Given the description of an element on the screen output the (x, y) to click on. 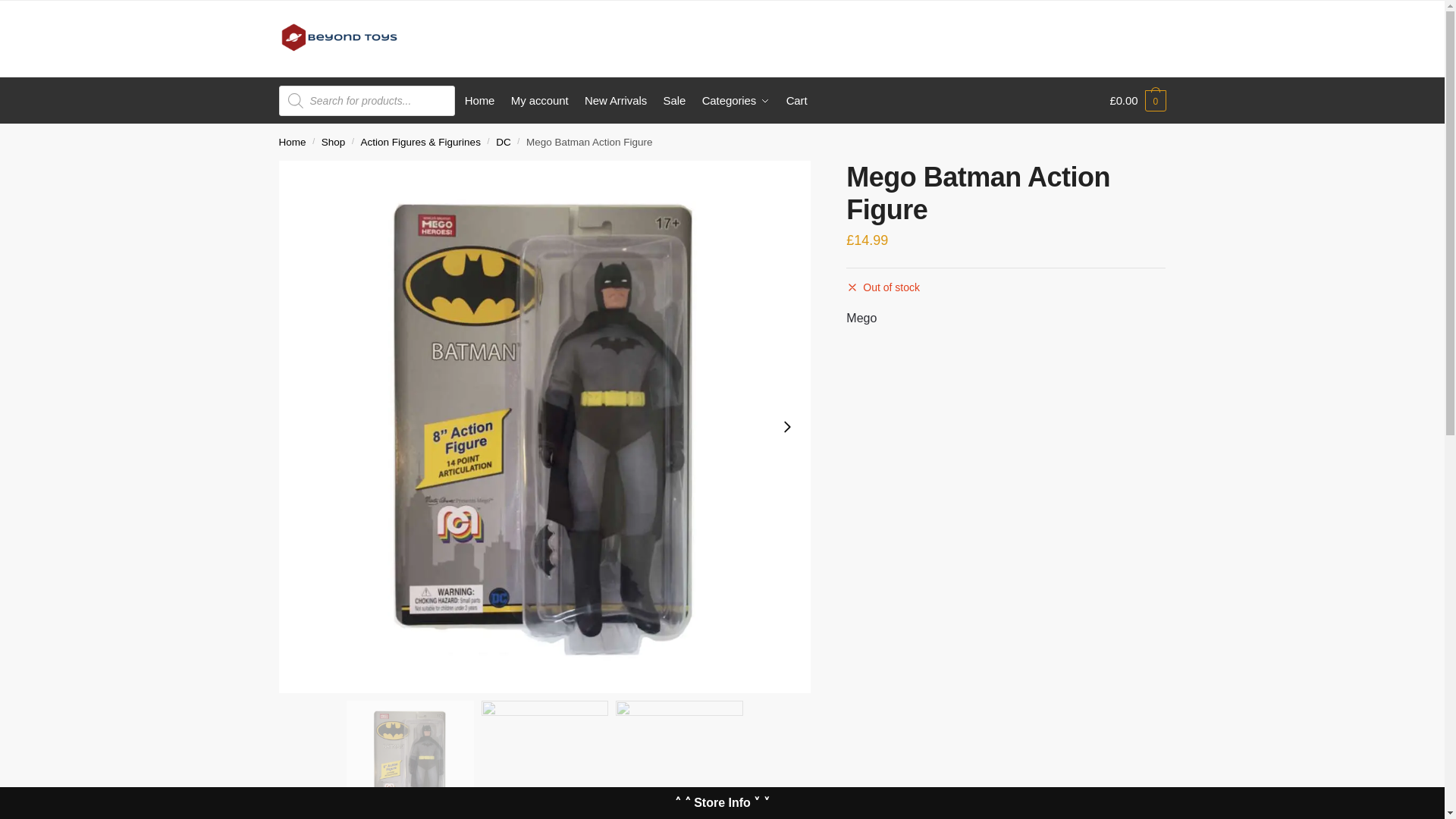
View brand (860, 318)
View your shopping cart (1137, 100)
Categories (735, 100)
ZBLANK copy 306 (410, 760)
Home (479, 100)
New Arrivals (615, 100)
My account (540, 100)
mego batman 2 (544, 760)
mego batman 1 (678, 760)
